Given the description of an element on the screen output the (x, y) to click on. 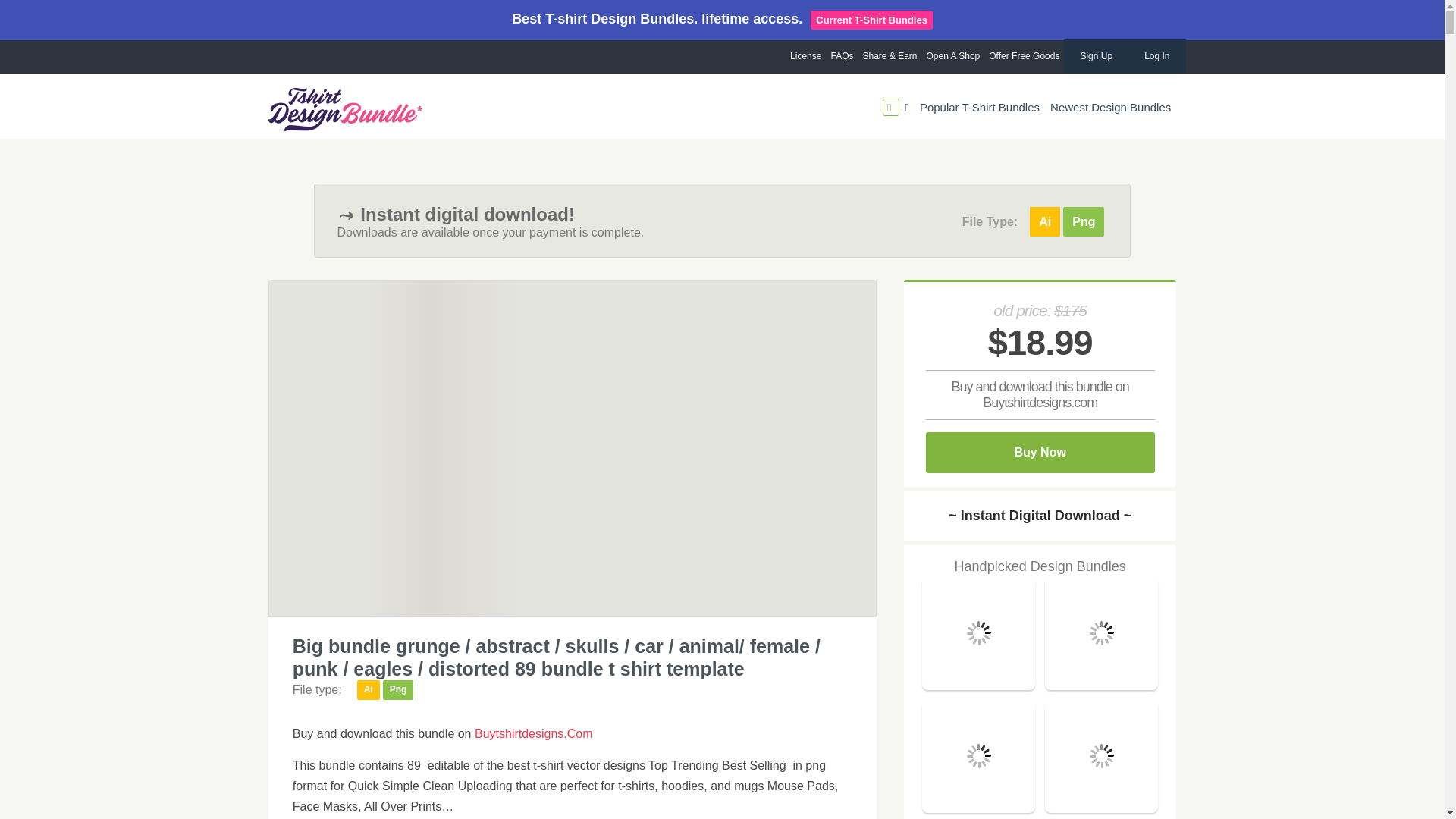
Top 73 t-shirt designs bundle (978, 808)
FAQs (841, 56)
Register (716, 344)
Offer Free Goods (1024, 56)
License (805, 56)
Popular T-Shirt Bundles (979, 107)
Buytshirtdesigns.Com (533, 733)
Sign Up (1096, 56)
Log In (1156, 56)
Buy Now (1040, 452)
